Given the description of an element on the screen output the (x, y) to click on. 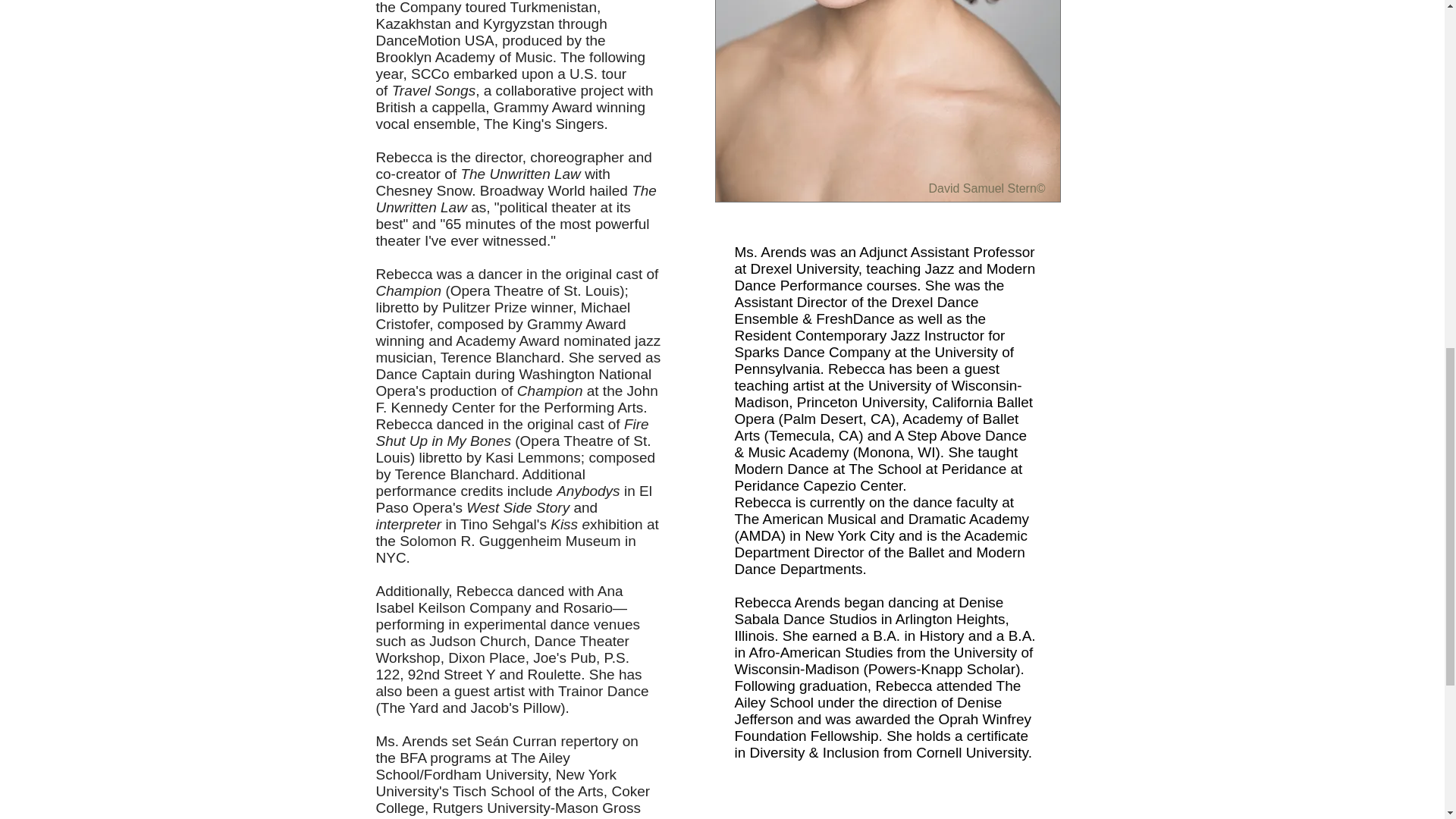
Chesney Snow (423, 190)
The King's Singers (543, 123)
Terence Blanchard (500, 357)
